Given the description of an element on the screen output the (x, y) to click on. 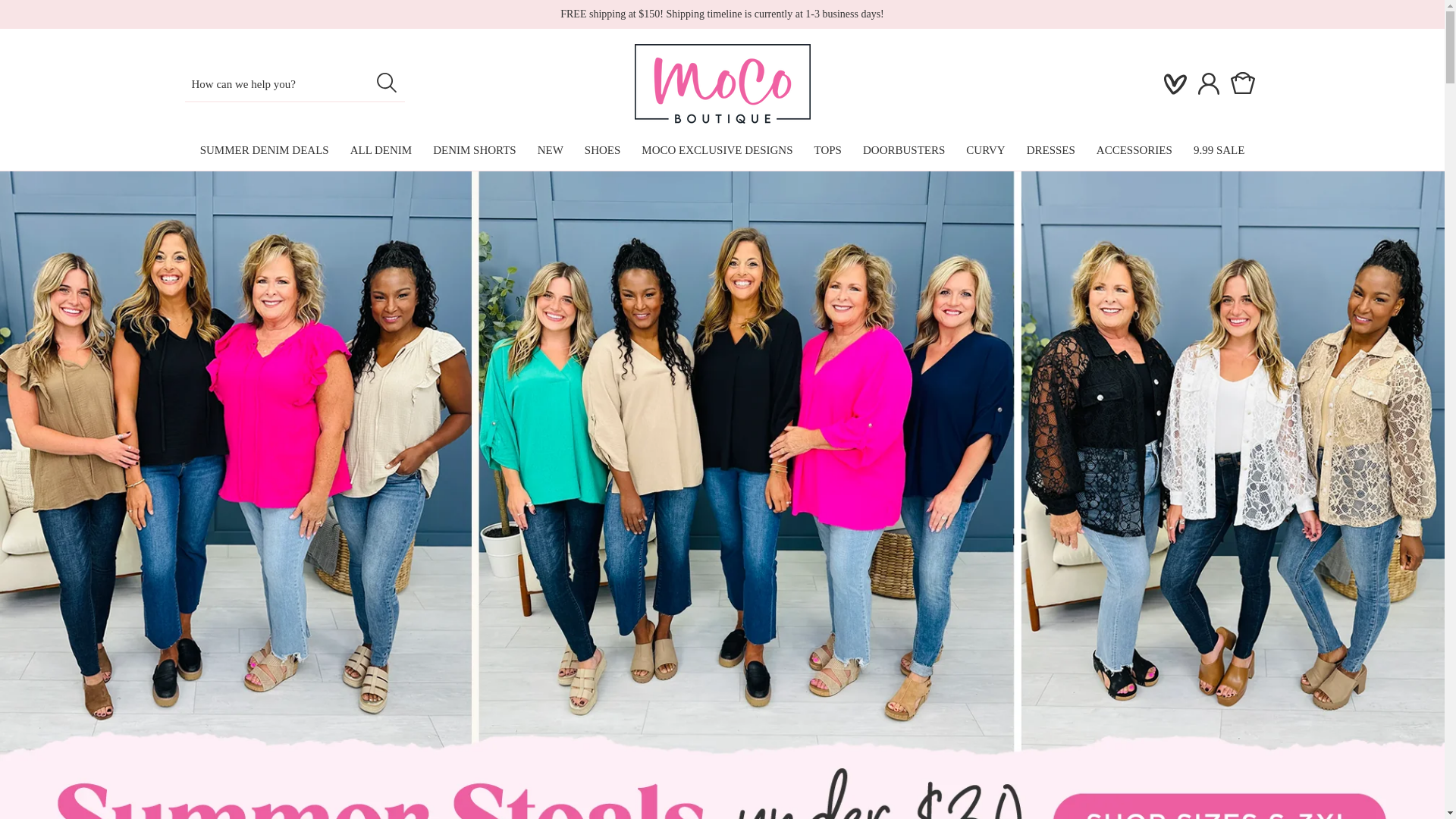
SKIP TO CONTENT (45, 16)
